Given the description of an element on the screen output the (x, y) to click on. 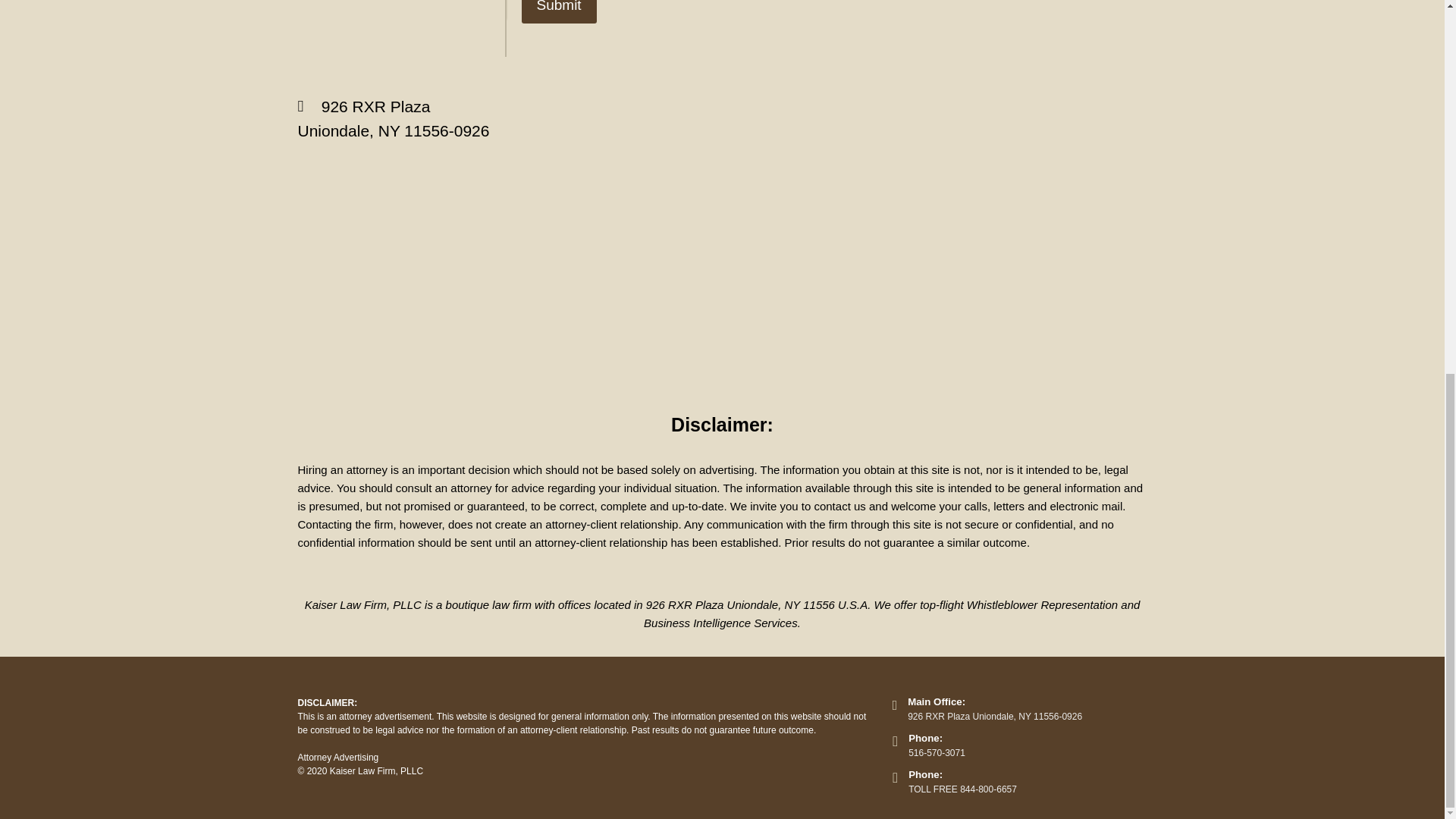
Submit (558, 11)
Submit (558, 11)
Phone: (925, 774)
